Given the description of an element on the screen output the (x, y) to click on. 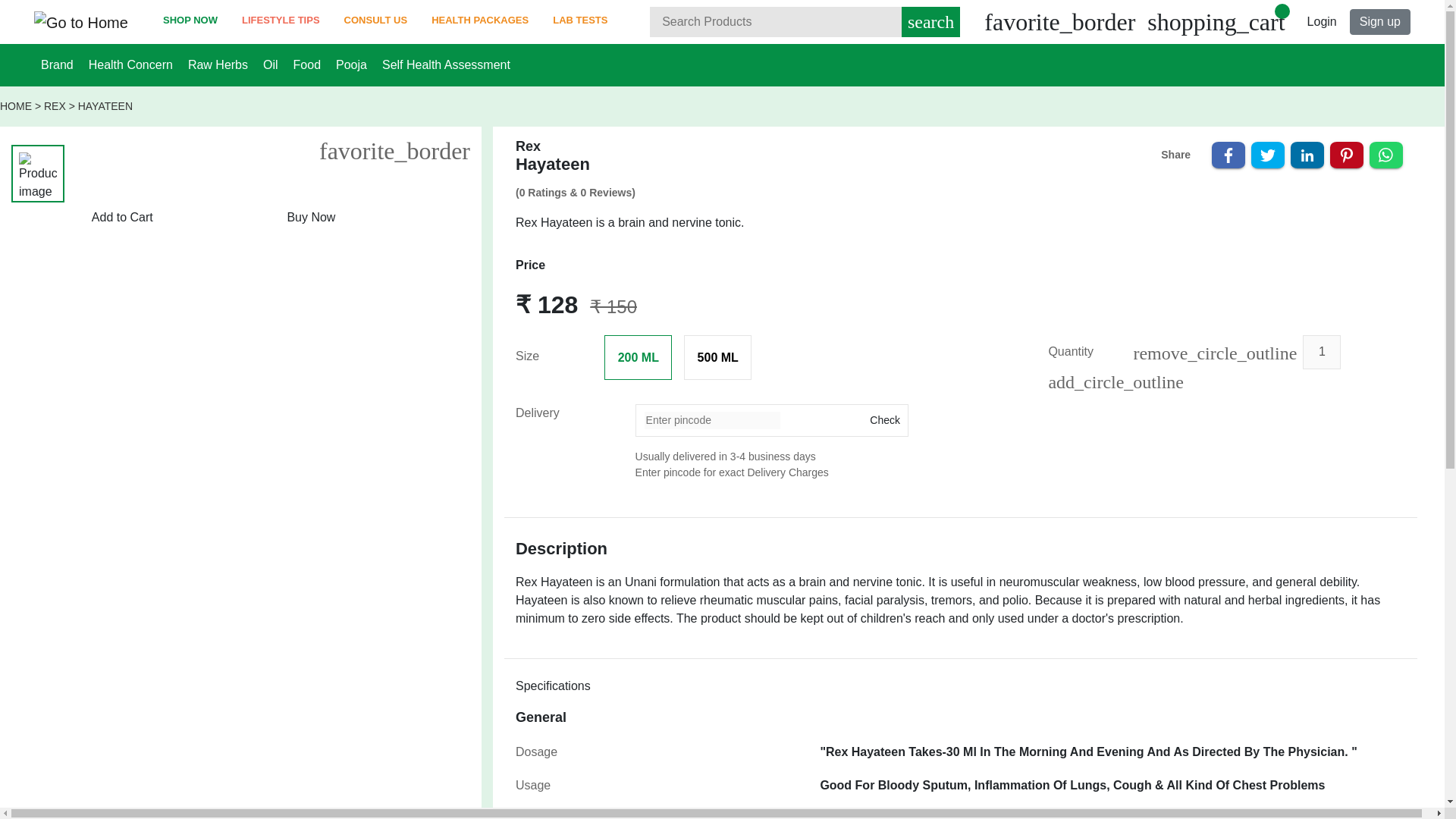
1 (1321, 351)
Brand (57, 64)
Login (1321, 22)
Sign up (1379, 22)
search (930, 21)
